Given the description of an element on the screen output the (x, y) to click on. 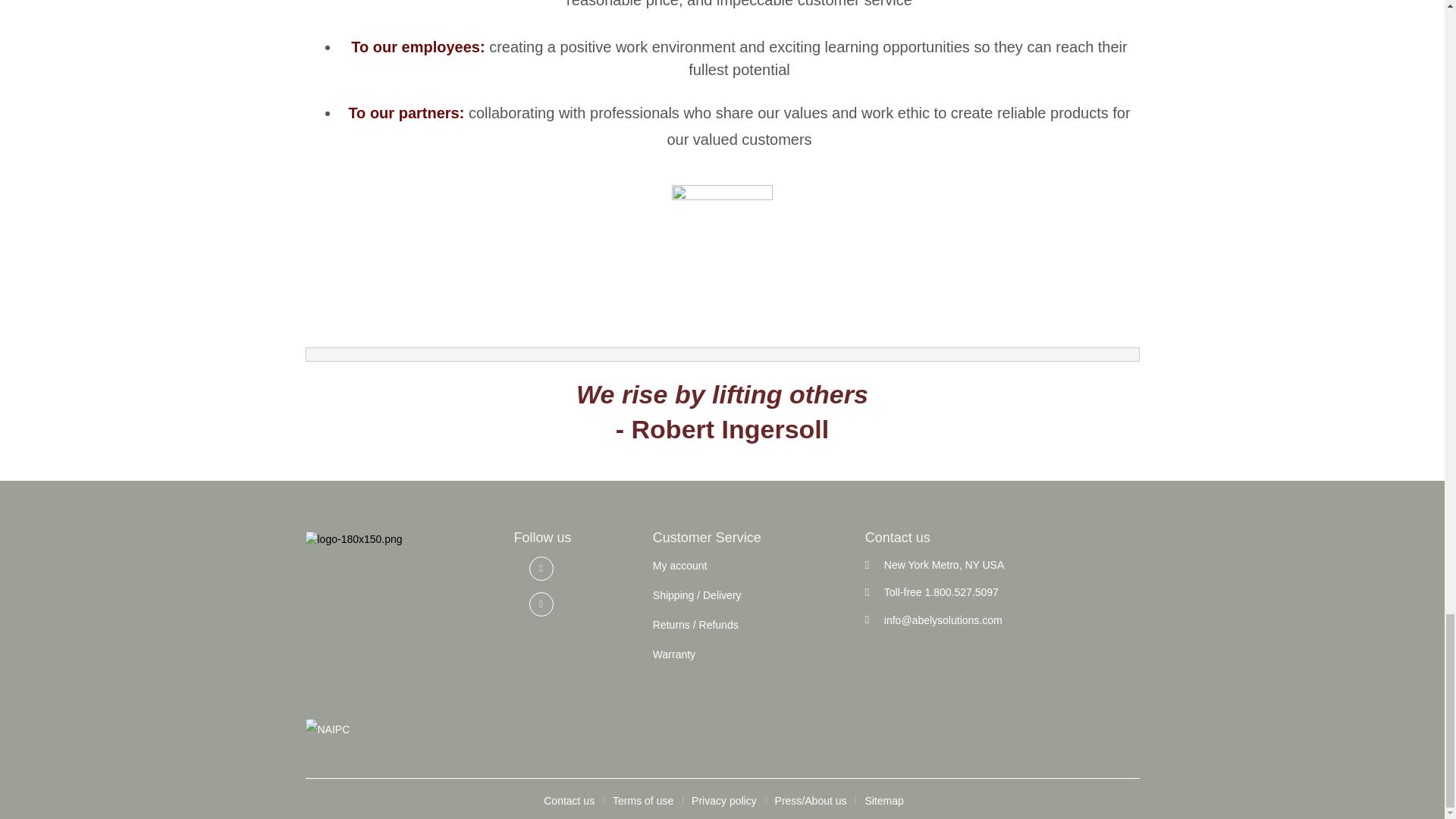
Sitemap (883, 800)
Privacy policy (724, 800)
My account (679, 565)
Terms of use (642, 800)
Contact us (568, 800)
My account (679, 565)
Warranty (673, 654)
Warranty (673, 654)
Contact us (568, 800)
